Given the description of an element on the screen output the (x, y) to click on. 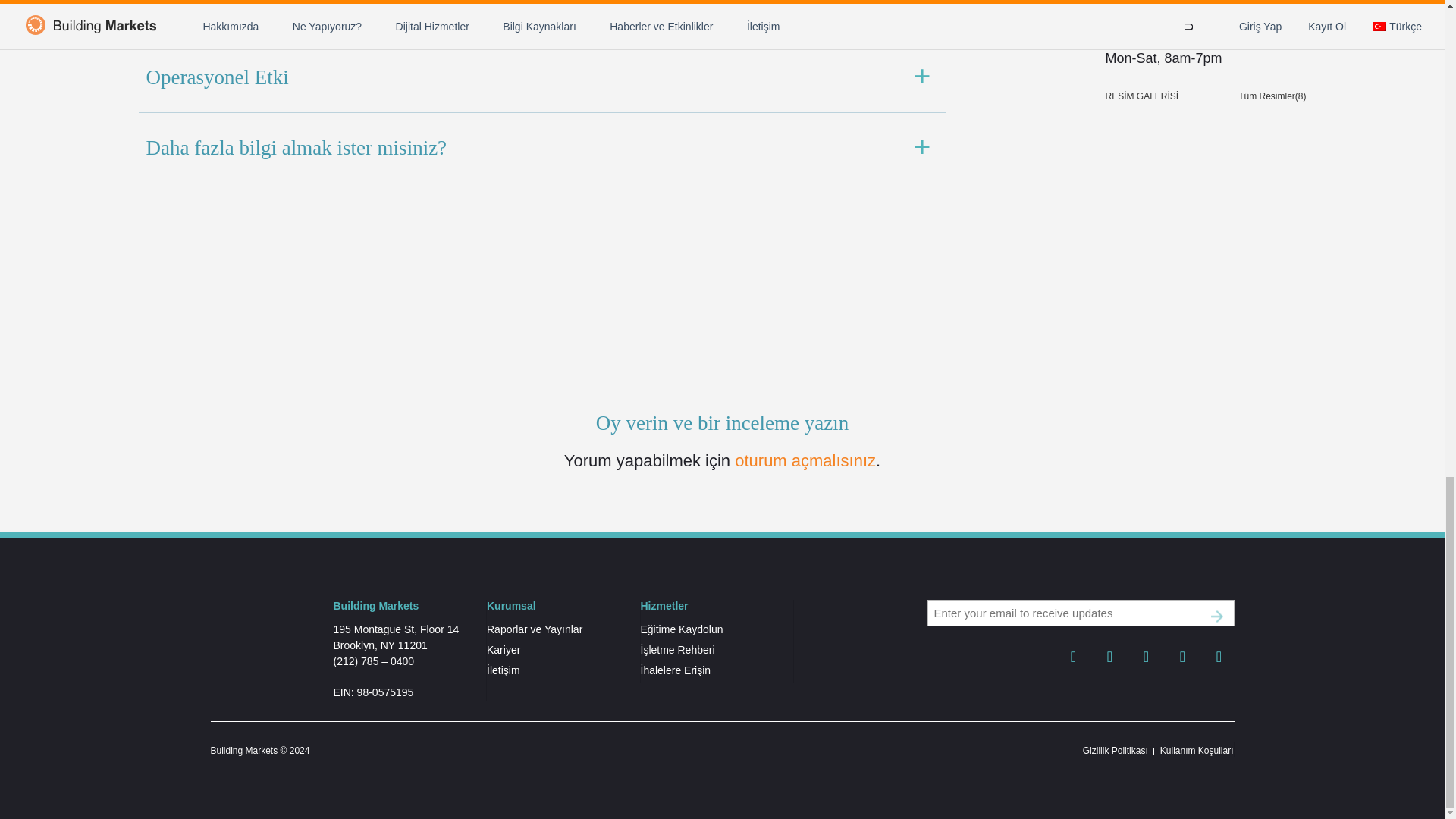
Submit (1216, 616)
X izleyin (1109, 653)
Facebook izleyin (1073, 653)
